Given the description of an element on the screen output the (x, y) to click on. 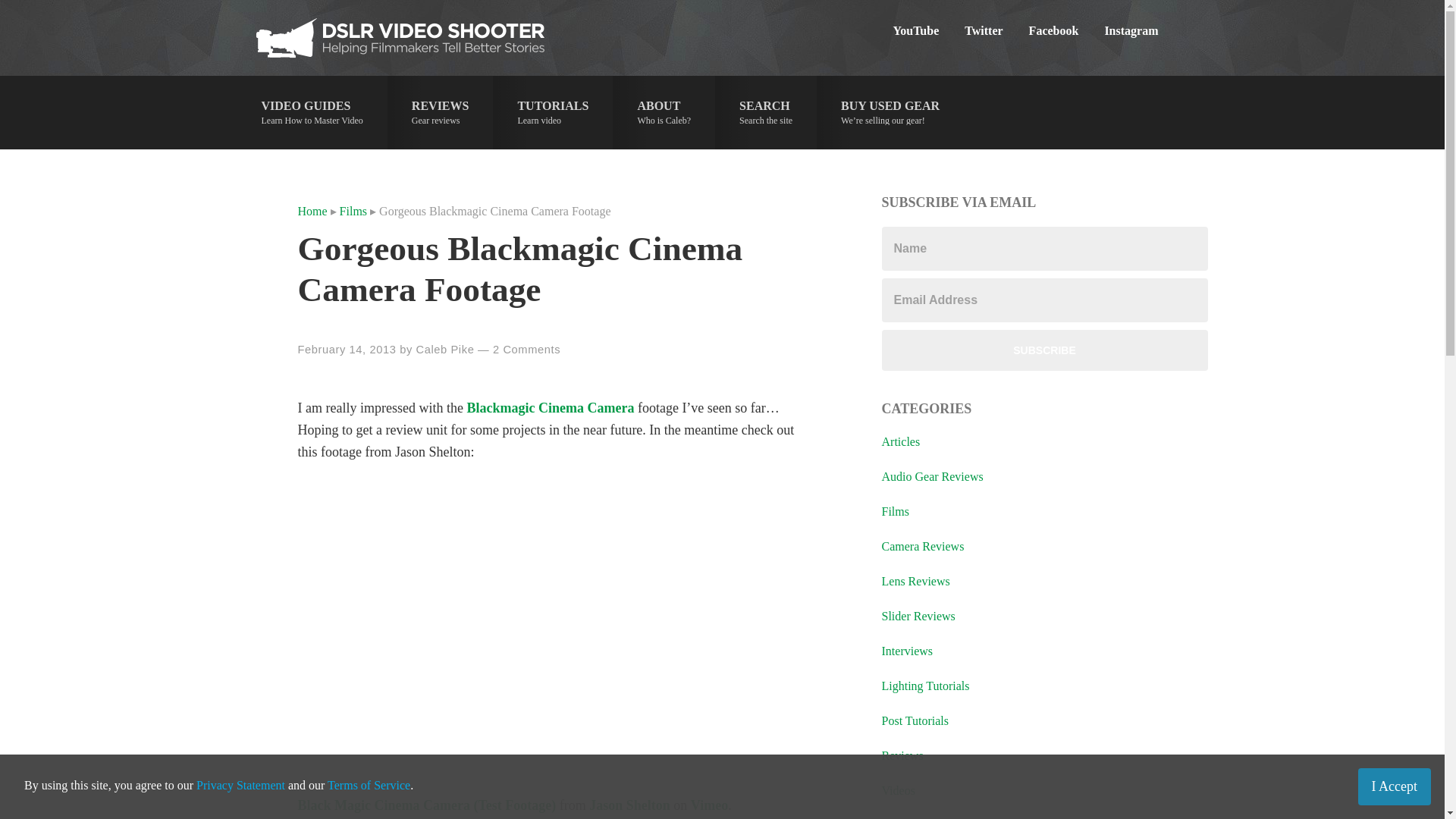
Home (311, 210)
Instagram (311, 112)
Caleb Pike (440, 112)
Subscribe (1131, 30)
Blackmagic Cinema Camera (445, 349)
Vimeo (1043, 350)
Twitter (549, 407)
Facebook (709, 805)
